Given the description of an element on the screen output the (x, y) to click on. 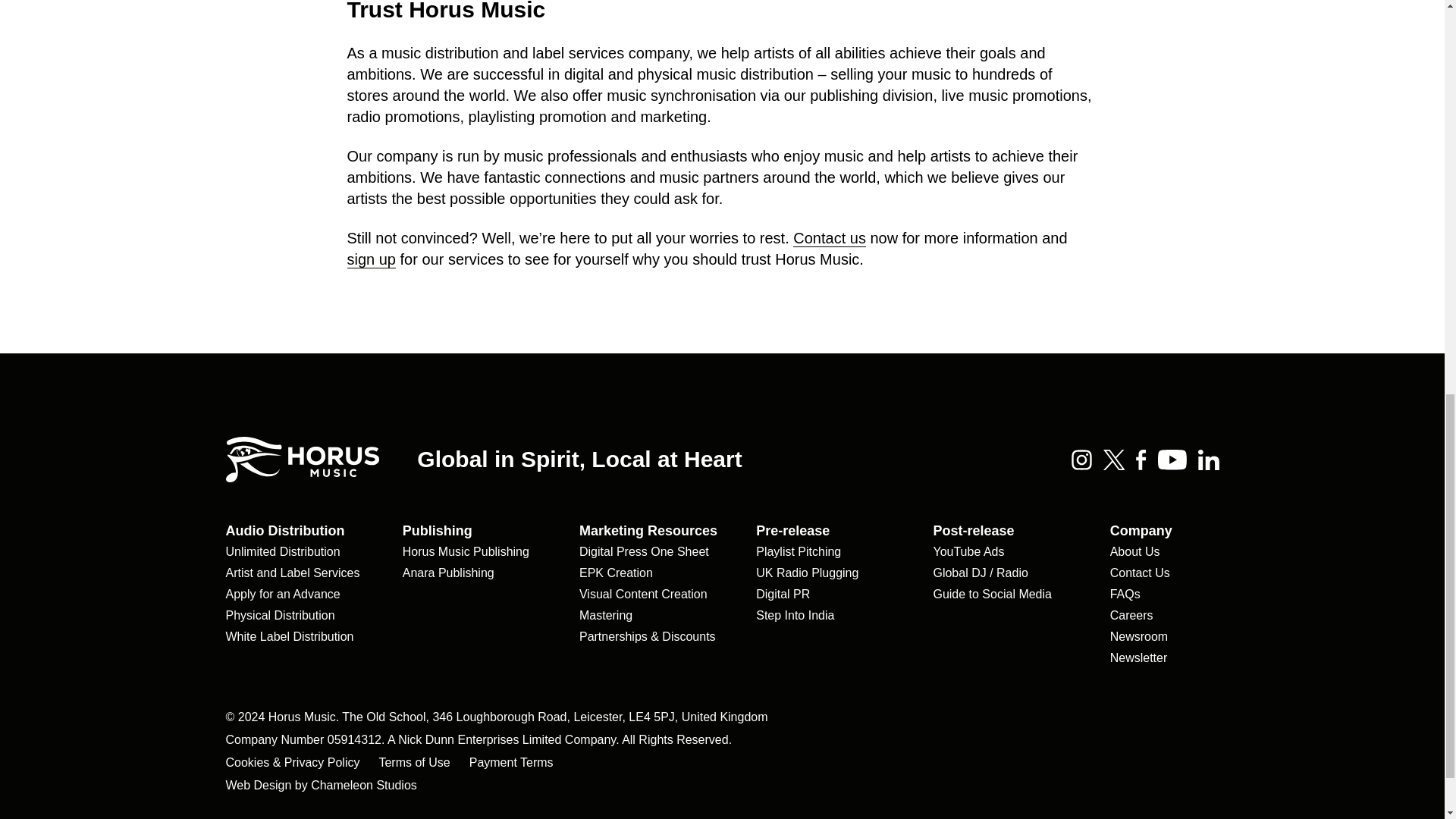
sign up (371, 259)
Publishing (437, 530)
Apply for an Advance (282, 594)
Audio Distribution (285, 530)
Physical Distribution (279, 615)
Artist and Label Services (292, 572)
White Label Distribution (289, 636)
Unlimited Distribution (282, 551)
Horus Music Publishing (466, 551)
Contact us (829, 238)
